Given the description of an element on the screen output the (x, y) to click on. 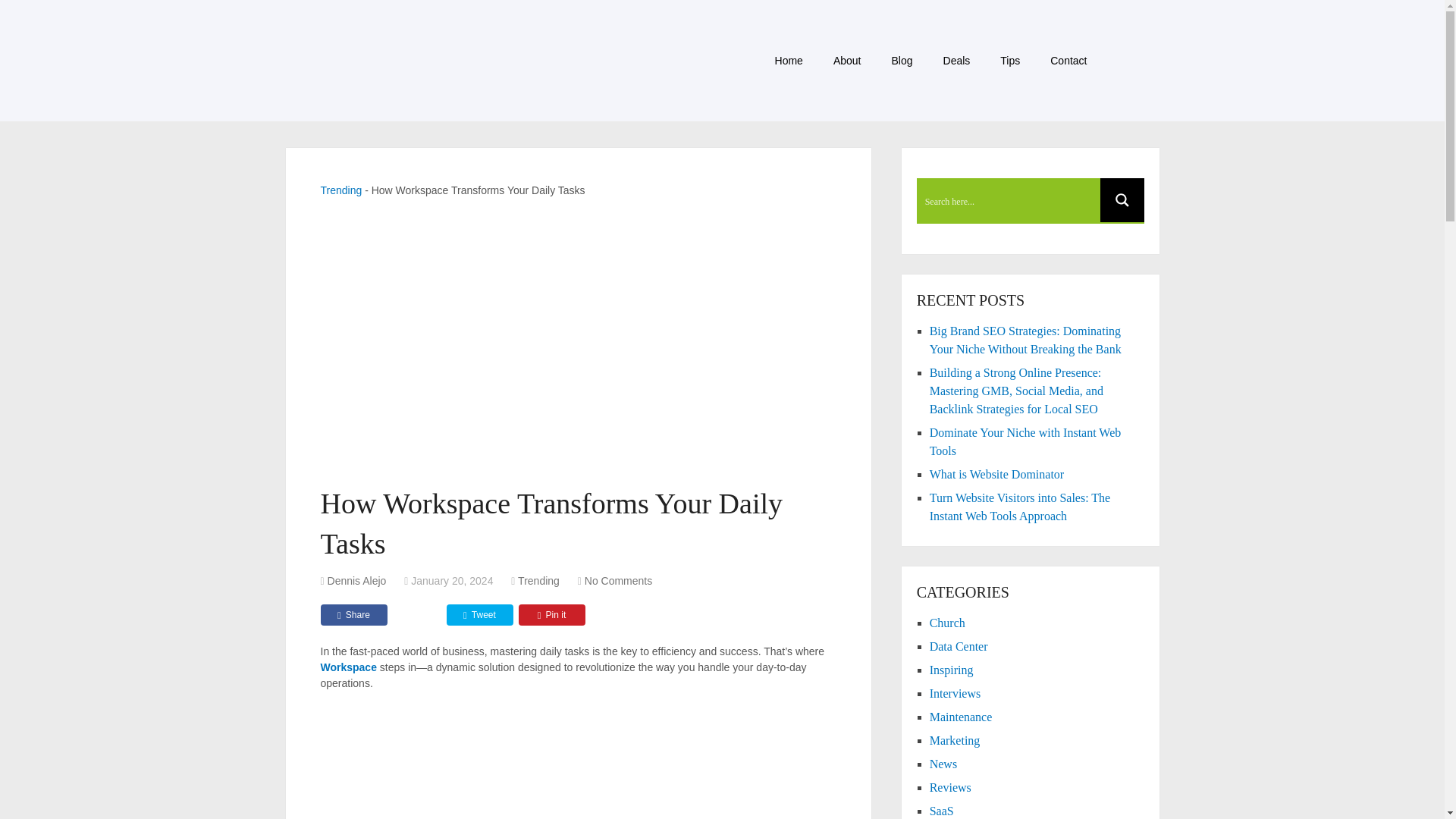
Blog (901, 60)
View all posts in Trending (538, 580)
No Comments (618, 580)
Pin it (551, 614)
Trending (340, 190)
Tips (1010, 60)
Trending (538, 580)
About (847, 60)
Deals (956, 60)
Dennis Alejo (357, 580)
Home (789, 60)
Tweet (478, 614)
Posts by Dennis Alejo (357, 580)
Contact (1068, 60)
Workspace (347, 666)
